Given the description of an element on the screen output the (x, y) to click on. 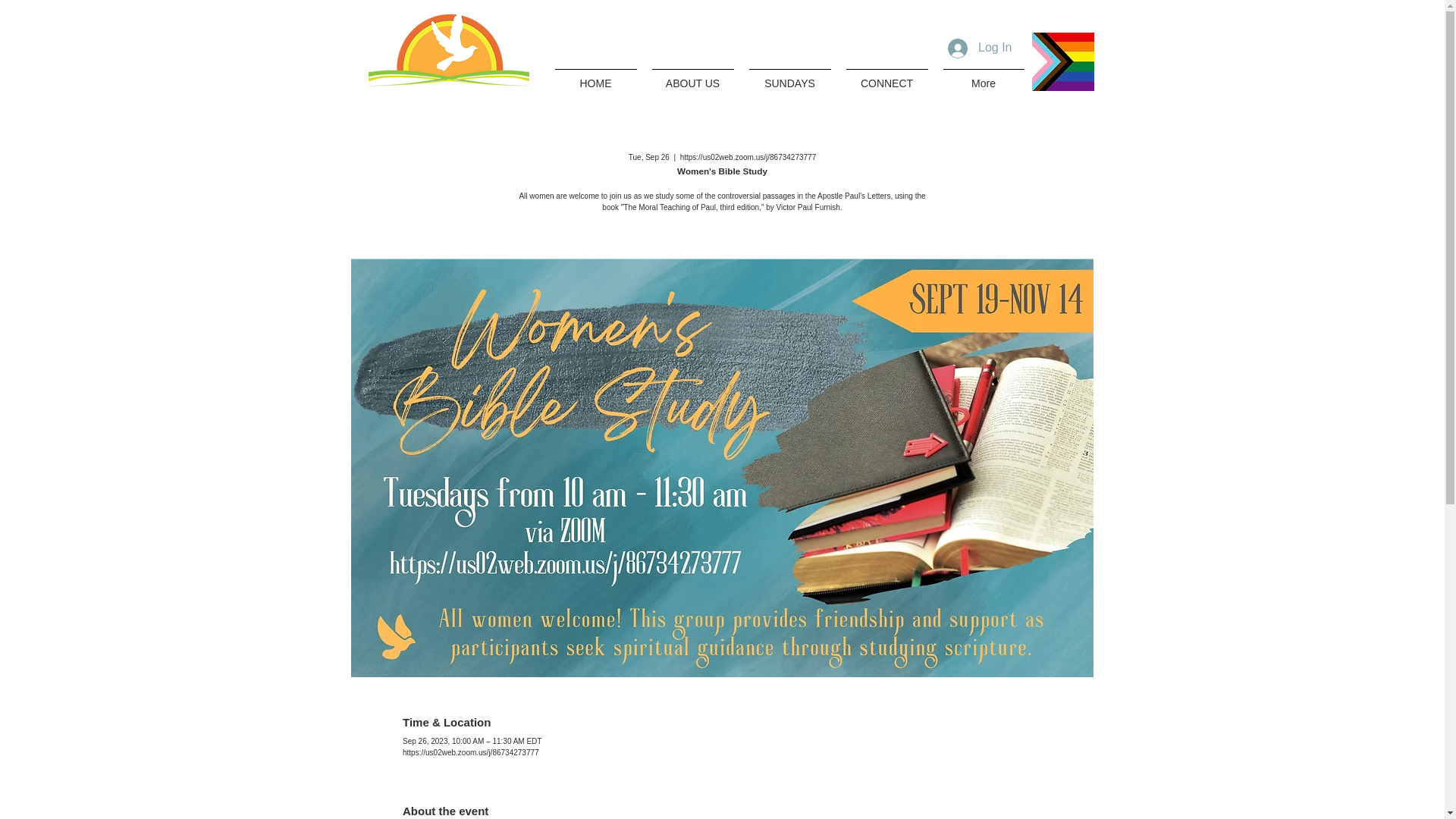
CONNECT (887, 76)
SUNDAYS (789, 76)
HOME (596, 76)
Log In (979, 47)
ABOUT US (693, 76)
